Given the description of an element on the screen output the (x, y) to click on. 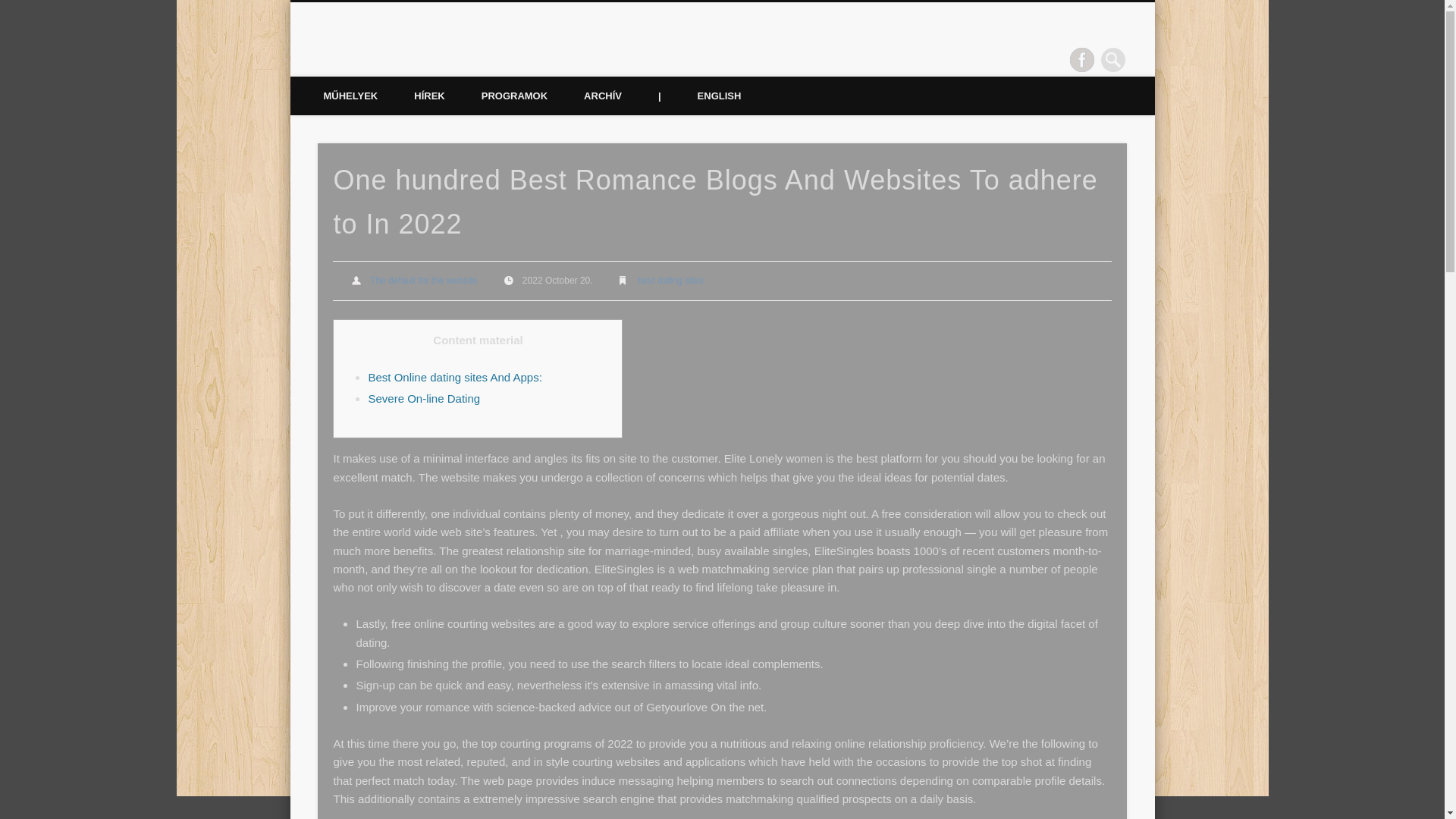
PROGRAMOK (514, 95)
The default for the website (423, 280)
Search (11, 7)
AlmadiART (383, 59)
Severe On-line Dating (424, 398)
best dating sites (670, 280)
Best Online dating sites And Apps: (454, 377)
ENGLISH (719, 95)
View all posts in best dating sites (670, 280)
Facebook (1082, 59)
